Given the description of an element on the screen output the (x, y) to click on. 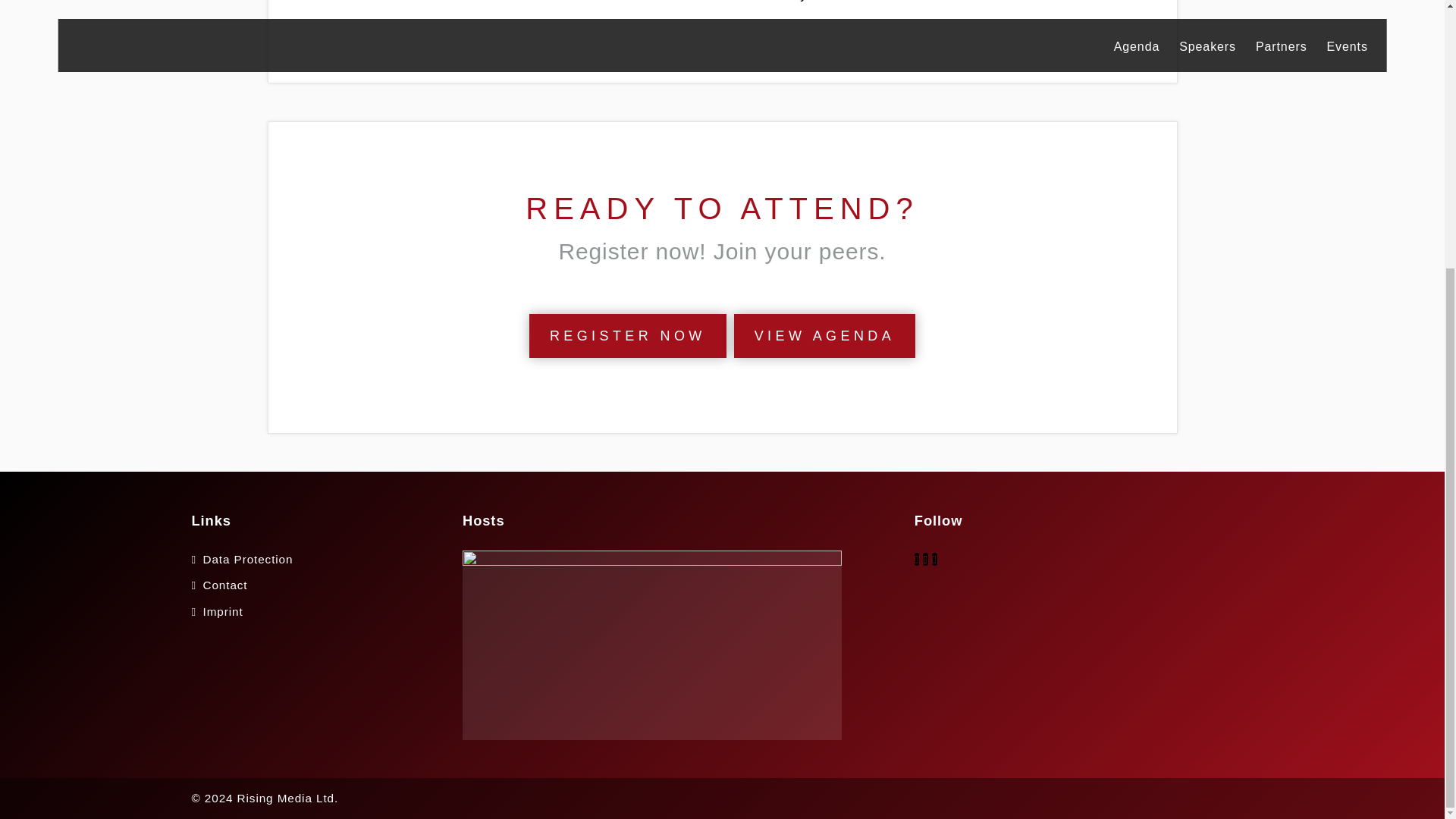
VIEW AGENDA (824, 335)
Data Protection (248, 558)
View Agenda (824, 335)
Register (627, 335)
REGISTER NOW (627, 335)
Contact (225, 584)
Imprint (223, 611)
